Given the description of an element on the screen output the (x, y) to click on. 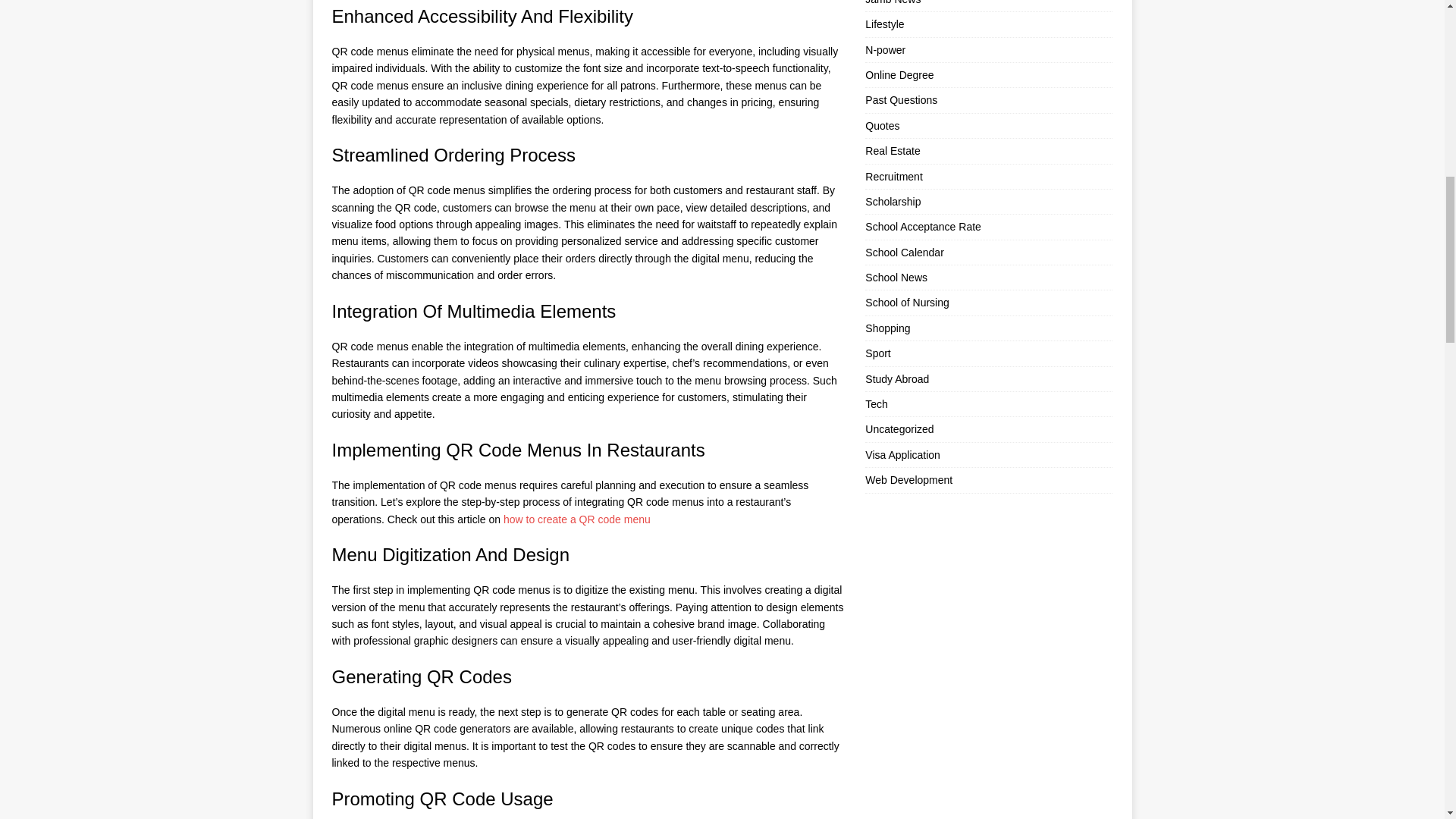
how to create a QR code menu (576, 519)
